Given the description of an element on the screen output the (x, y) to click on. 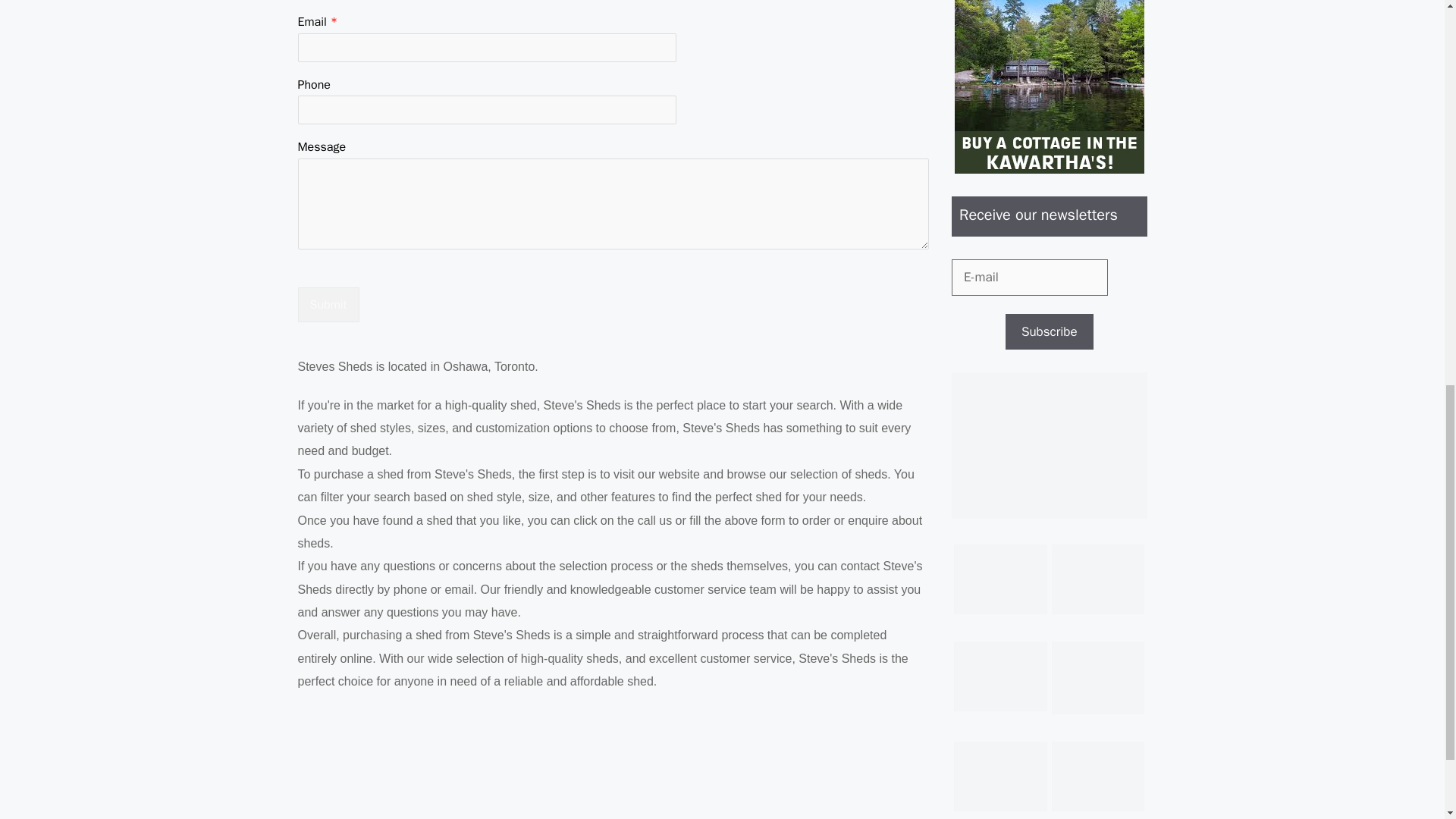
E-mail (1030, 277)
Submit (327, 304)
E-mail (1030, 277)
Subscribe (1049, 331)
Subscribe (1049, 331)
